Given the description of an element on the screen output the (x, y) to click on. 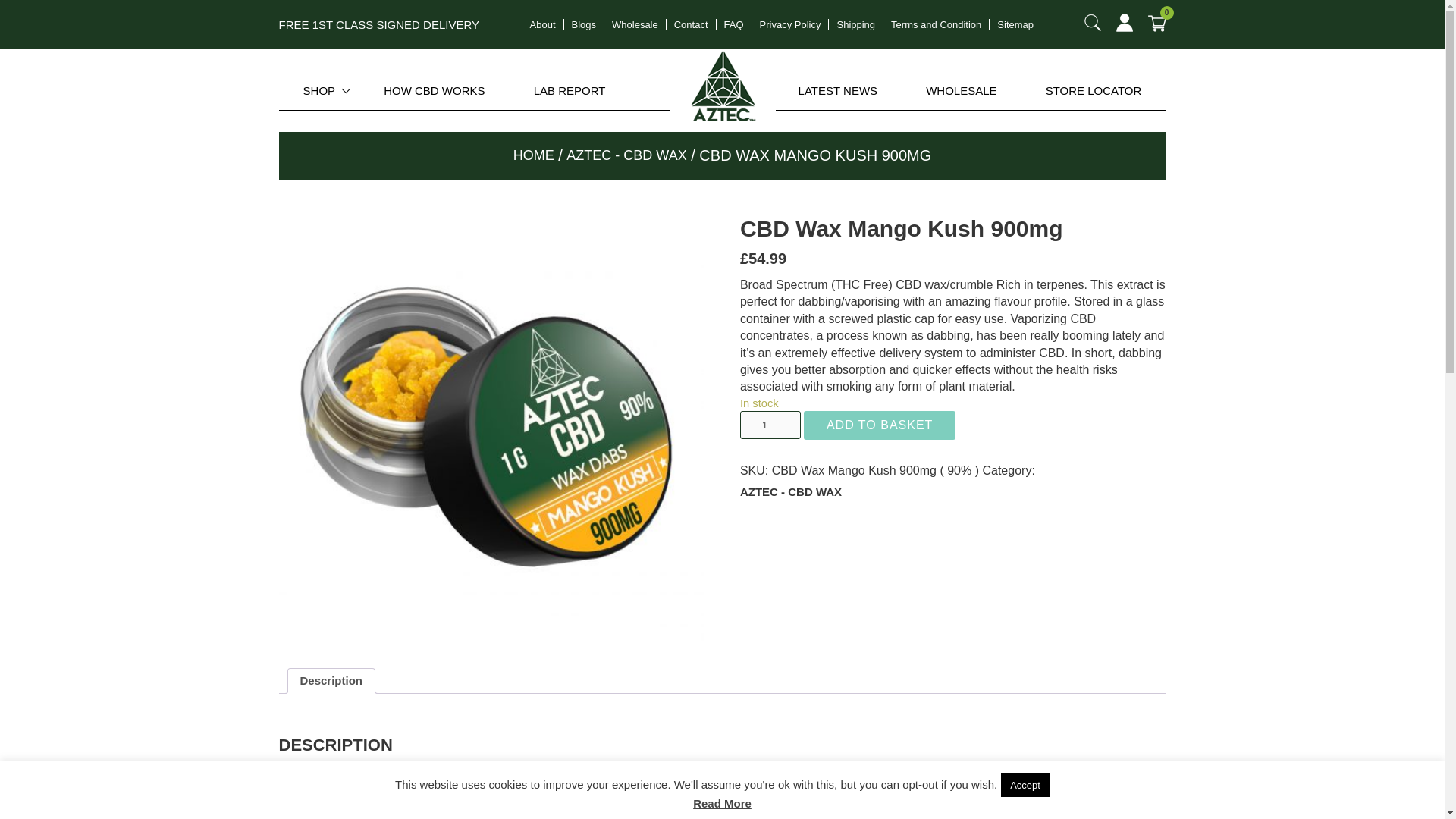
ADD TO BASKET (879, 425)
HOW CBD WORKS (434, 90)
AZTEC - CBD WAX (625, 155)
Blogs (584, 23)
1 (769, 424)
Terms and Condition (936, 23)
Sitemap (1015, 23)
Contact (690, 23)
Privacy Policy (790, 23)
STORE LOCATOR (1093, 90)
